Given the description of an element on the screen output the (x, y) to click on. 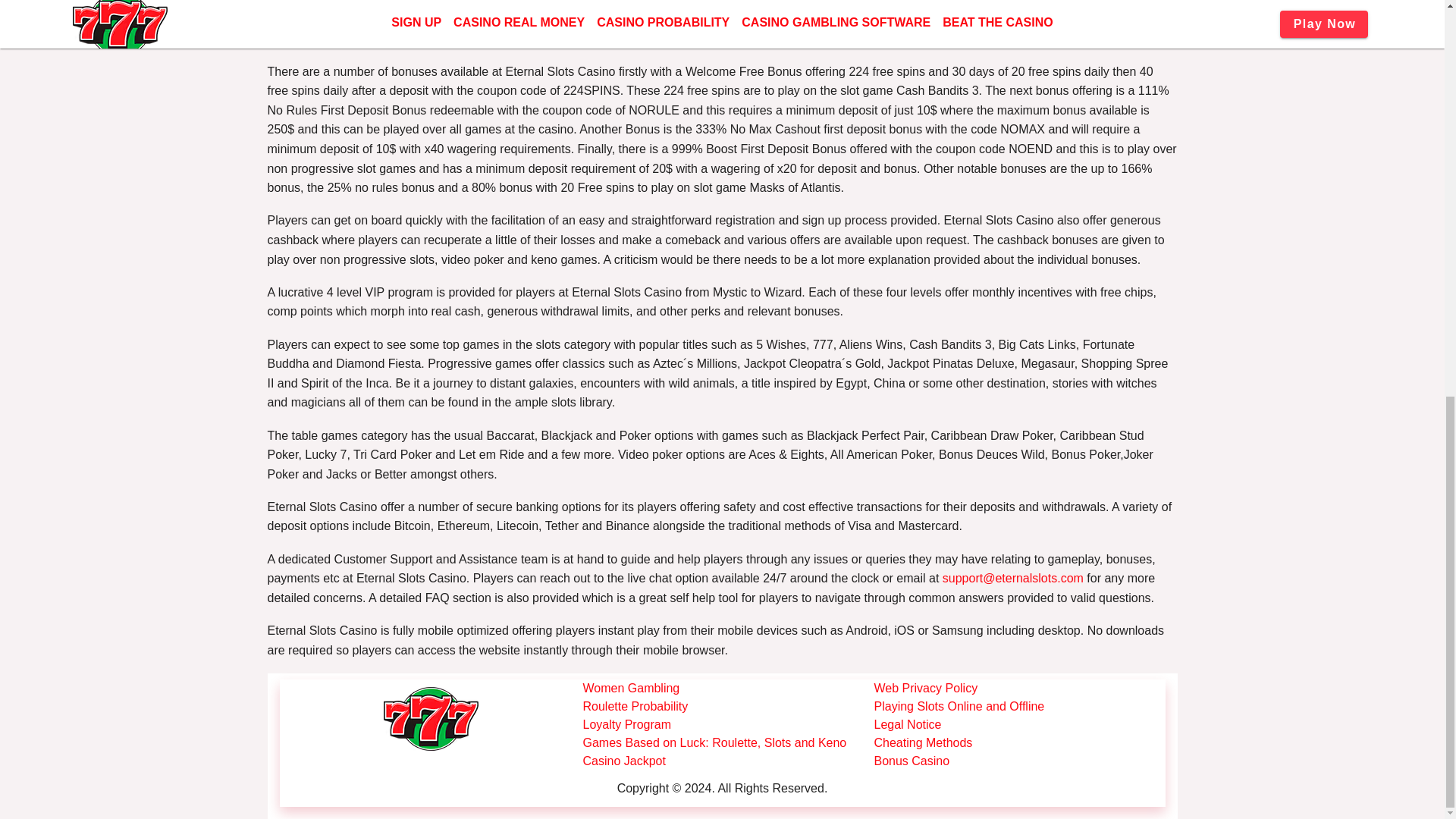
Web Privacy Policy (1018, 688)
Women Gambling (727, 688)
Bonus Casino (1018, 761)
Loyalty Program (727, 724)
Playing Slots Online and Offline (1018, 706)
Casino Jackpot (727, 761)
Legal Notice (1018, 724)
Roulette Probability (727, 706)
Games Based on Luck: Roulette, Slots and Keno (727, 742)
Cheating Methods (1018, 742)
